Given the description of an element on the screen output the (x, y) to click on. 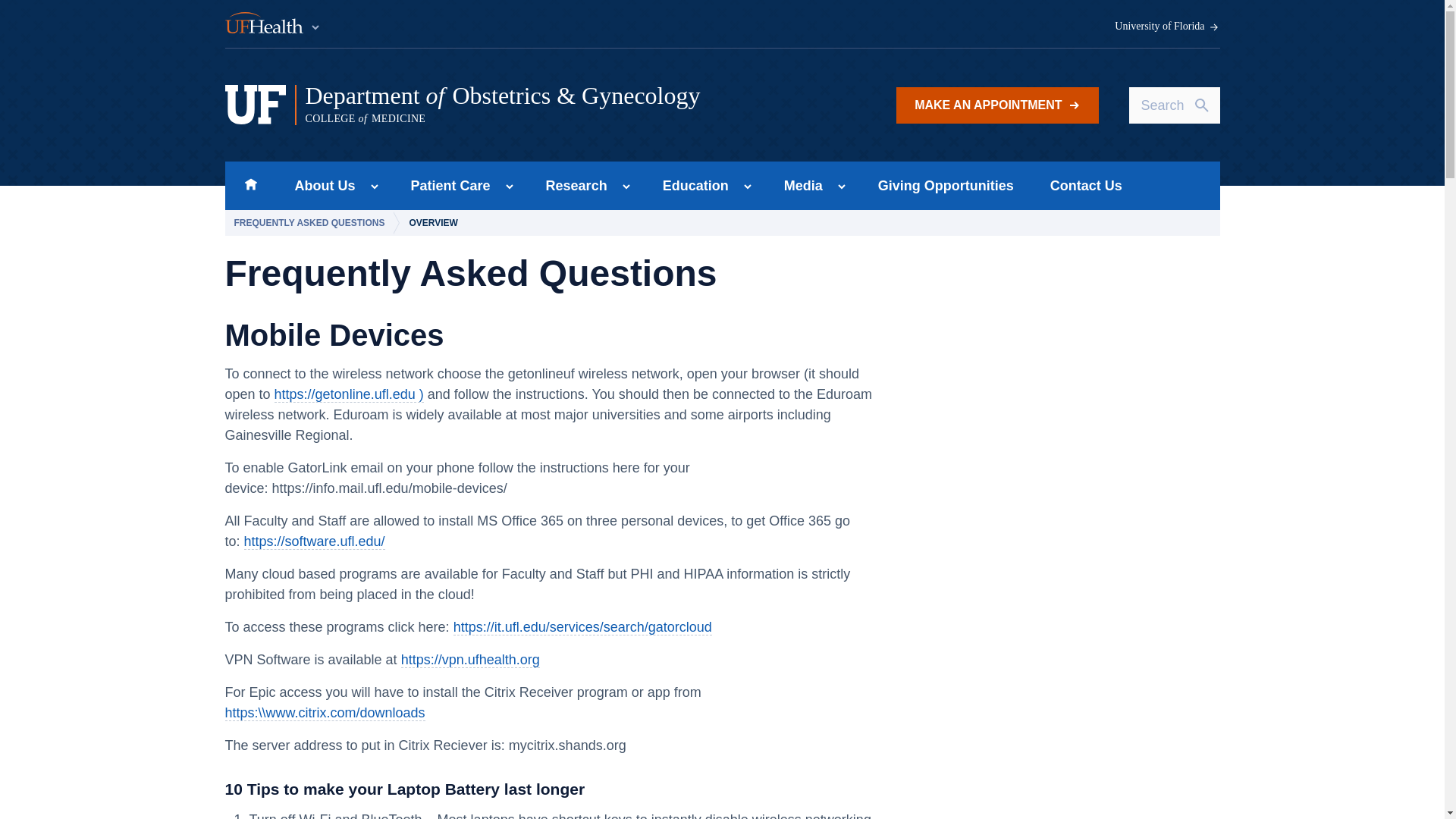
UF Health (272, 24)
MAKE AN APPOINTMENT (996, 104)
Home (250, 185)
Show submenu for Research (625, 187)
University of Florida (1167, 26)
Research (571, 185)
Show submenu for Patient Care (509, 187)
Show submenu for About Us (374, 187)
Patient Care (446, 185)
About Us (320, 185)
